Given the description of an element on the screen output the (x, y) to click on. 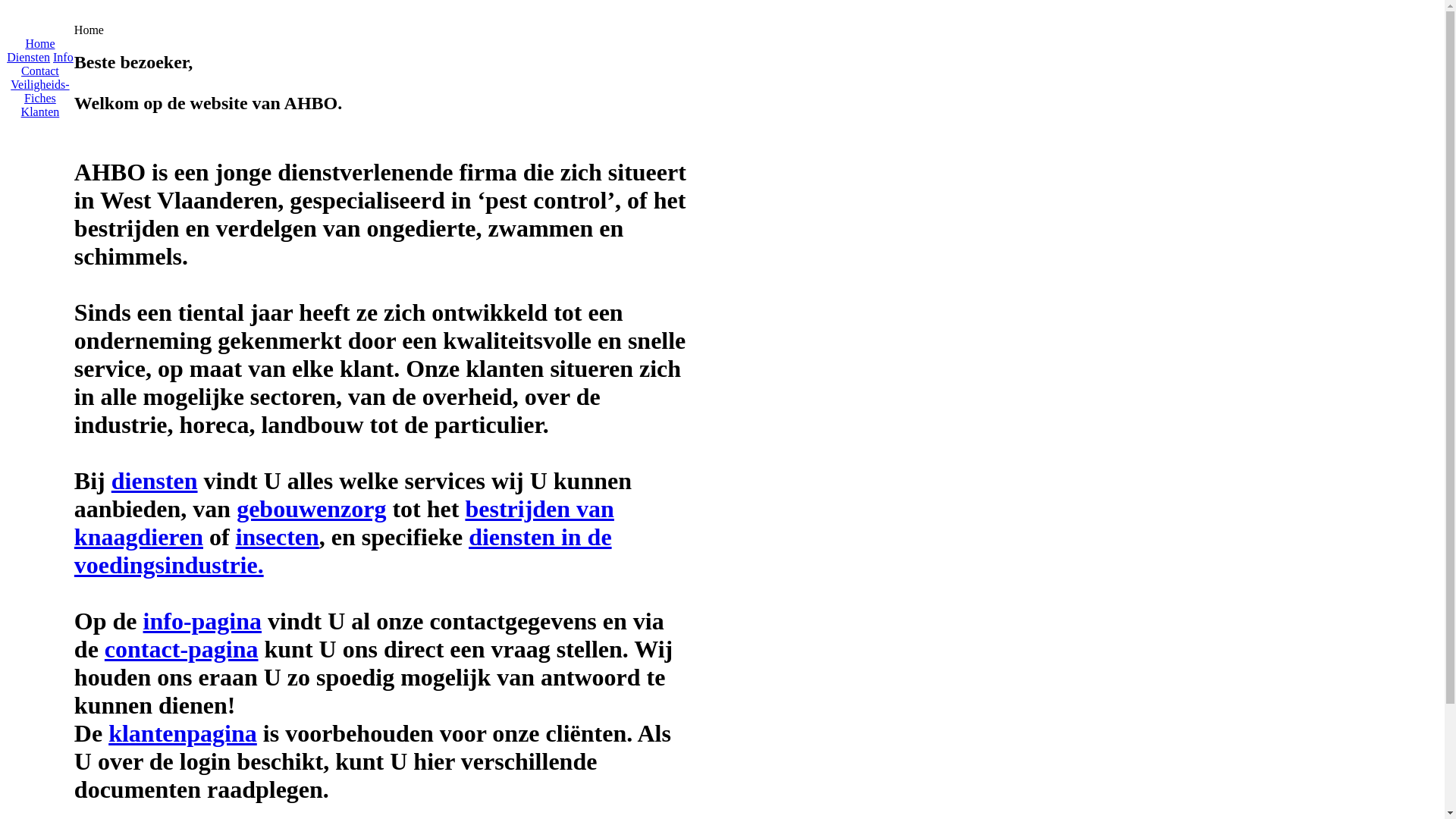
Home Element type: text (39, 43)
diensten in de voedingsindustrie. Element type: text (342, 550)
info-pagina Element type: text (202, 620)
gebouwenzorg Element type: text (310, 508)
insecten Element type: text (277, 536)
klantenpagina Element type: text (182, 732)
Veiligheids-
Fiches Element type: text (39, 91)
Klanten Element type: text (40, 111)
diensten Element type: text (154, 480)
Diensten Element type: text (28, 56)
Contact Element type: text (40, 70)
Info Element type: text (63, 56)
contact-pagina Element type: text (181, 648)
bestrijden van knaagdieren Element type: text (344, 522)
